Given the description of an element on the screen output the (x, y) to click on. 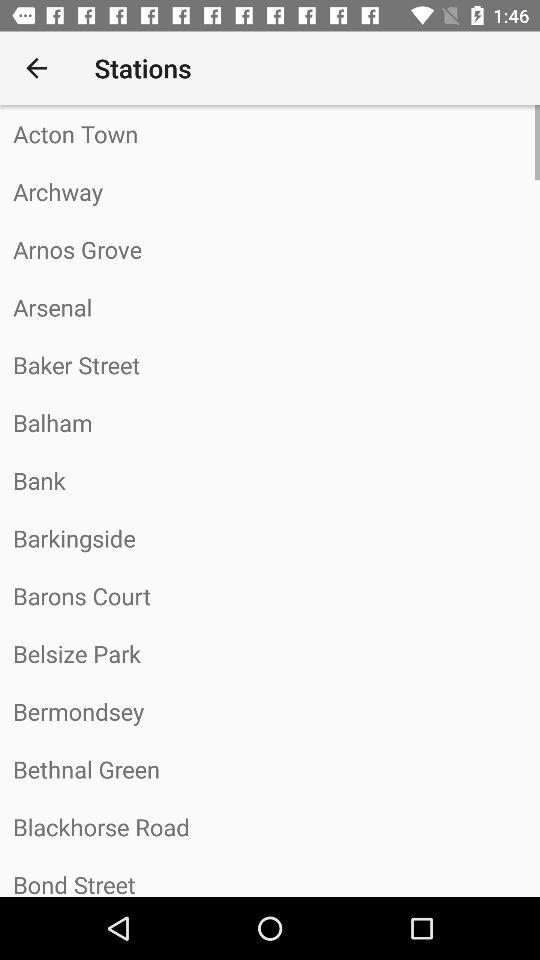
flip until the baker street icon (270, 364)
